Given the description of an element on the screen output the (x, y) to click on. 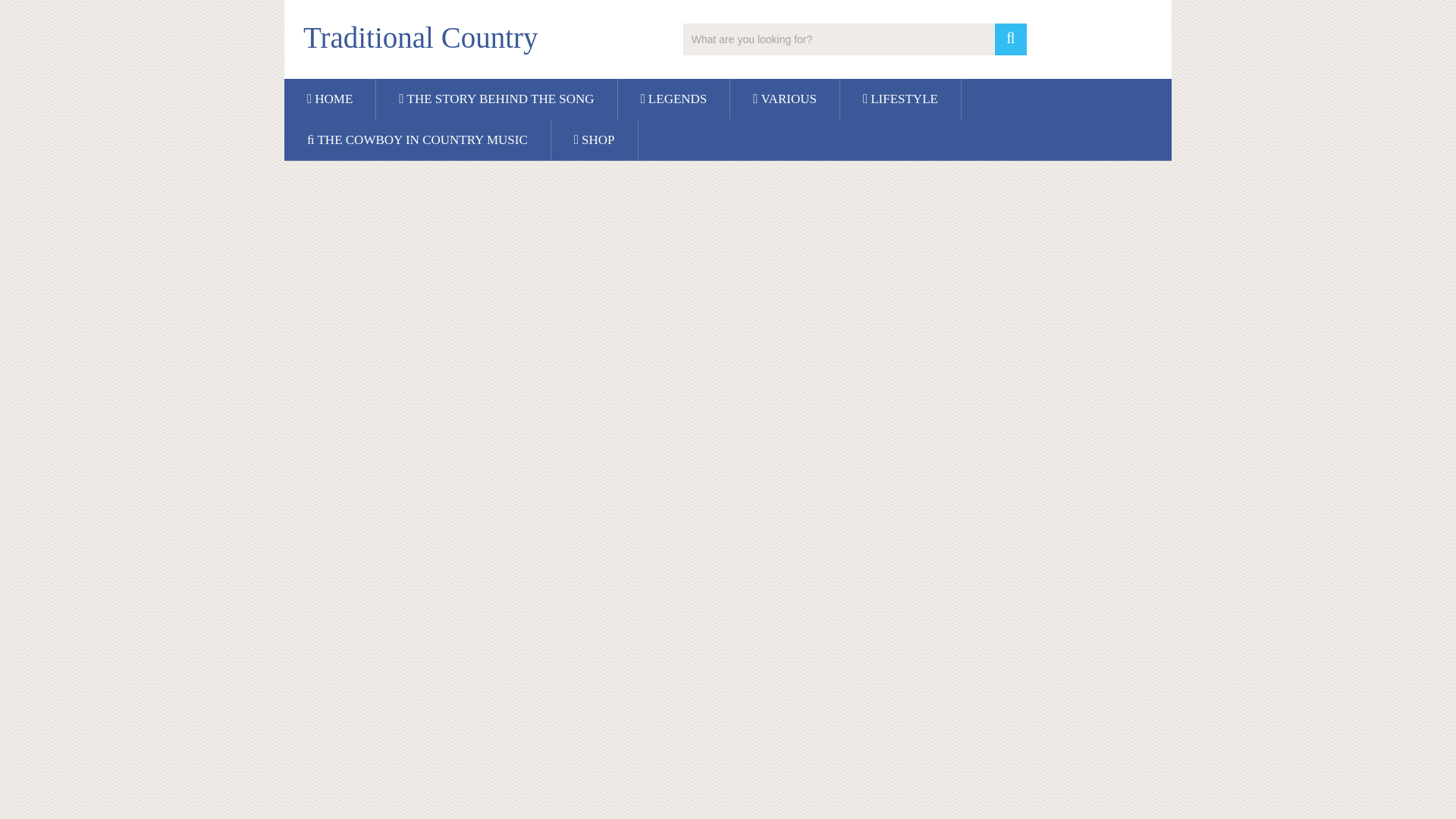
THE STORY BEHIND THE SONG (495, 98)
Traditional Country (420, 37)
LEGENDS (673, 98)
VARIOUS (785, 98)
HOME (329, 98)
LIFESTYLE (900, 98)
